Given the description of an element on the screen output the (x, y) to click on. 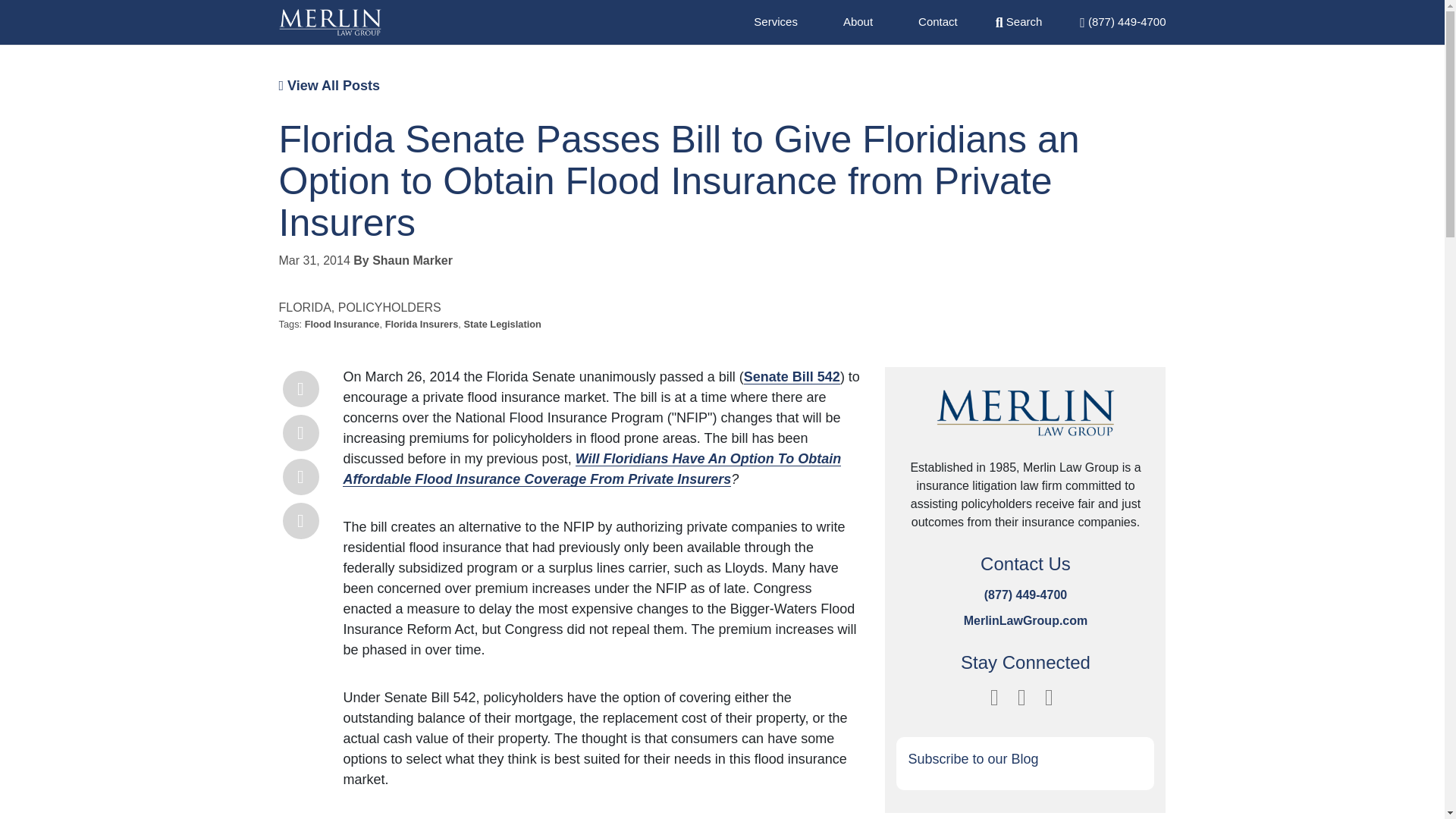
State Legislation (501, 301)
View All Posts (329, 62)
Florida Insurers (421, 301)
Search (1018, 21)
Search (1018, 21)
By Shaun Marker (402, 237)
Menu (1123, 21)
MerlinLawGroup.com (1025, 587)
About (857, 21)
